Given the description of an element on the screen output the (x, y) to click on. 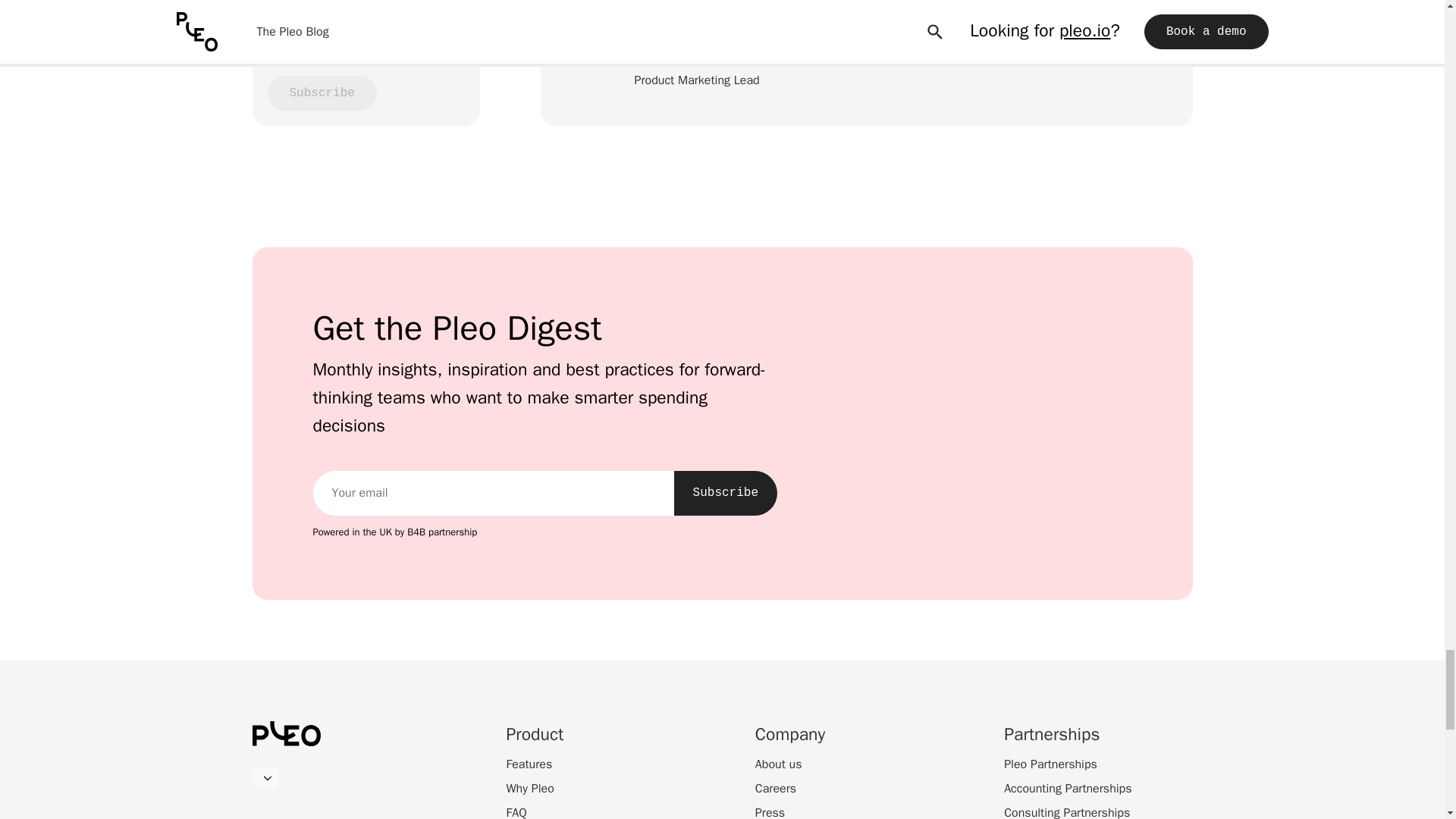
Features (529, 764)
Careers (775, 788)
Svetlana Yershov (724, 57)
FAQ (516, 811)
Why Pleo (530, 788)
About us (778, 764)
Subscribe (725, 492)
Press (769, 811)
